Given the description of an element on the screen output the (x, y) to click on. 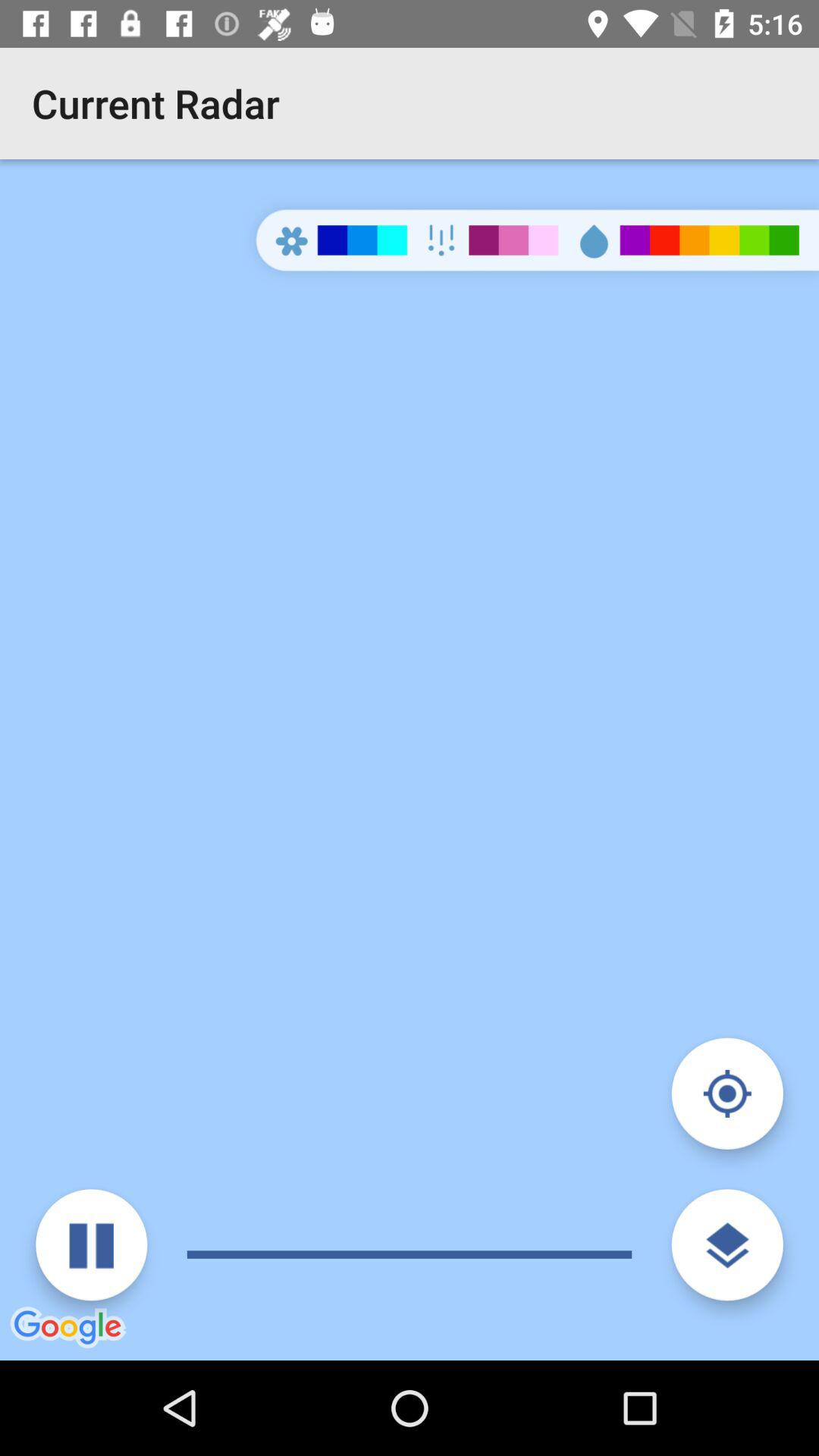
pause (91, 1244)
